Given the description of an element on the screen output the (x, y) to click on. 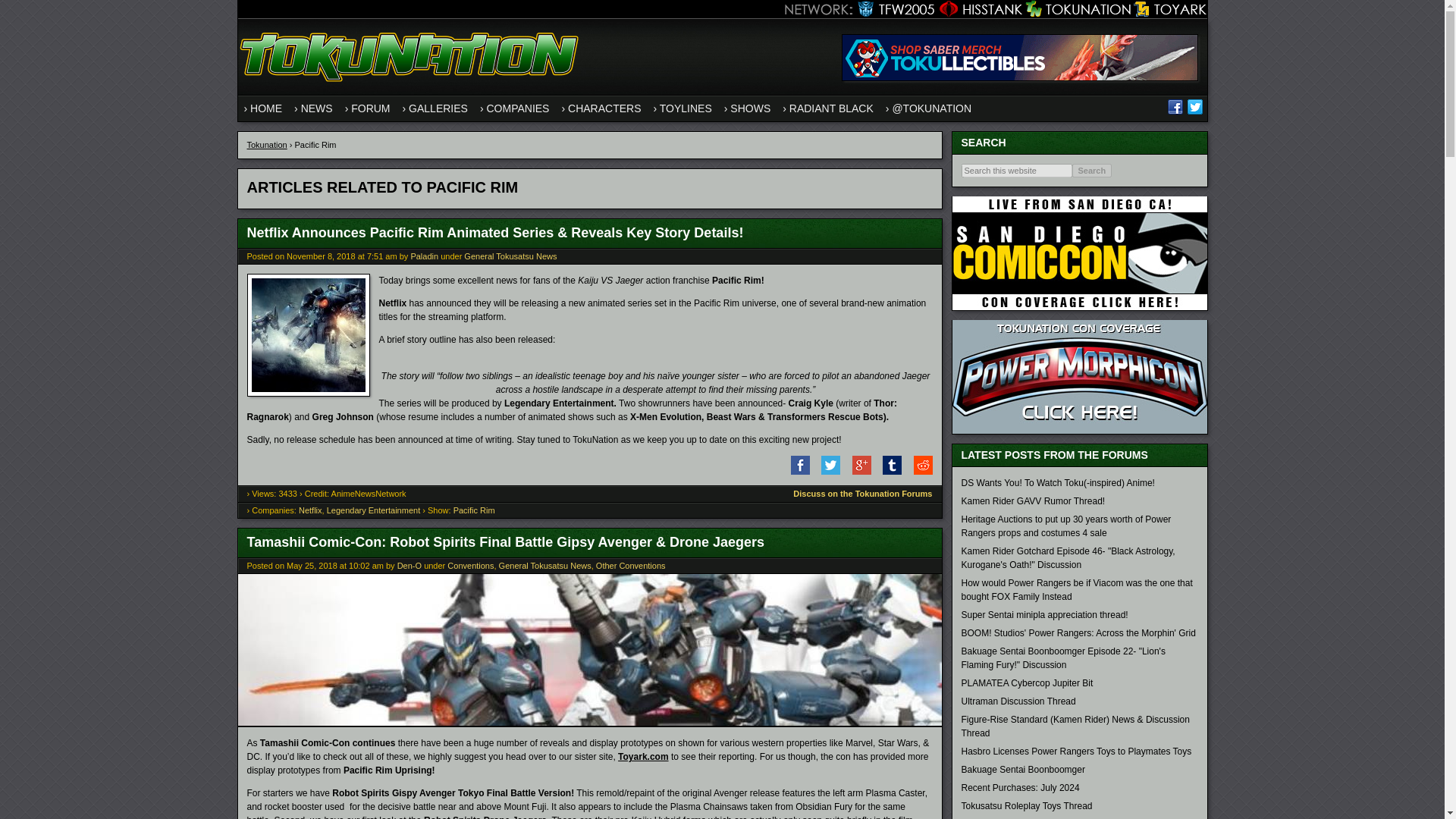
GALLERIES (435, 108)
HOME (263, 108)
TOYLINES (681, 108)
reddit this! (917, 471)
Search (1091, 170)
CHARACTERS (600, 108)
FORUM (367, 108)
Tokunation -  (410, 87)
Visit HissTank.com for G.I. Joe (978, 9)
Post to tumblr (887, 471)
Visit Toyark.com for Action Figures and Toys (1169, 9)
SHOWS (746, 108)
COMPANIES (515, 108)
Share with followers on Twitter (826, 471)
NEWS (313, 108)
